Given the description of an element on the screen output the (x, y) to click on. 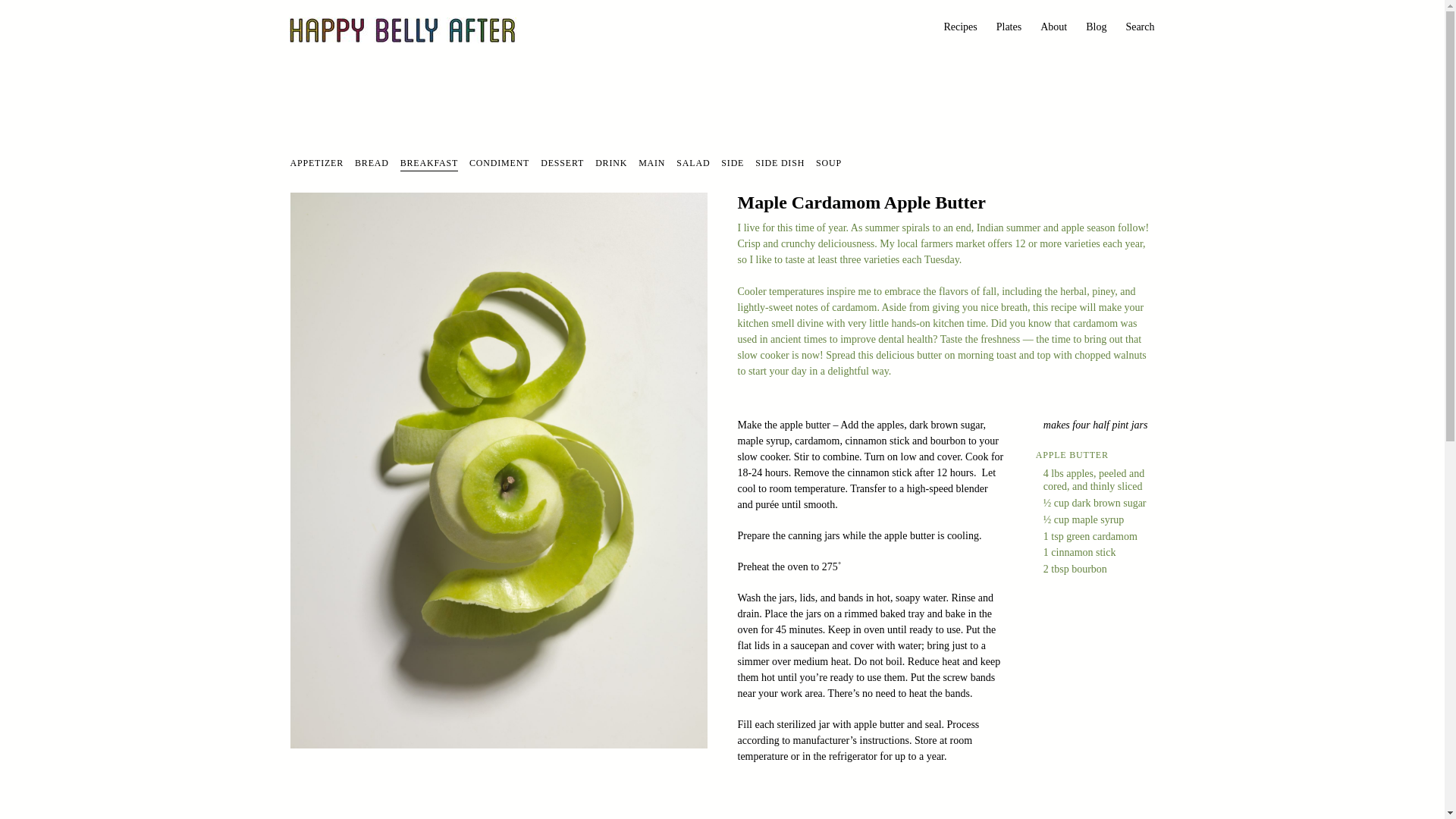
Search (1139, 28)
SIDE DISH (780, 164)
About (1054, 28)
Recipes (959, 28)
APPETIZER (316, 164)
BREAD (371, 164)
SOUP (828, 164)
SIDE (732, 164)
Blog (1096, 28)
Plates (1008, 28)
DESSERT (561, 164)
MAIN (652, 164)
BREAKFAST (429, 164)
CONDIMENT (498, 164)
DRINK (611, 164)
